Given the description of an element on the screen output the (x, y) to click on. 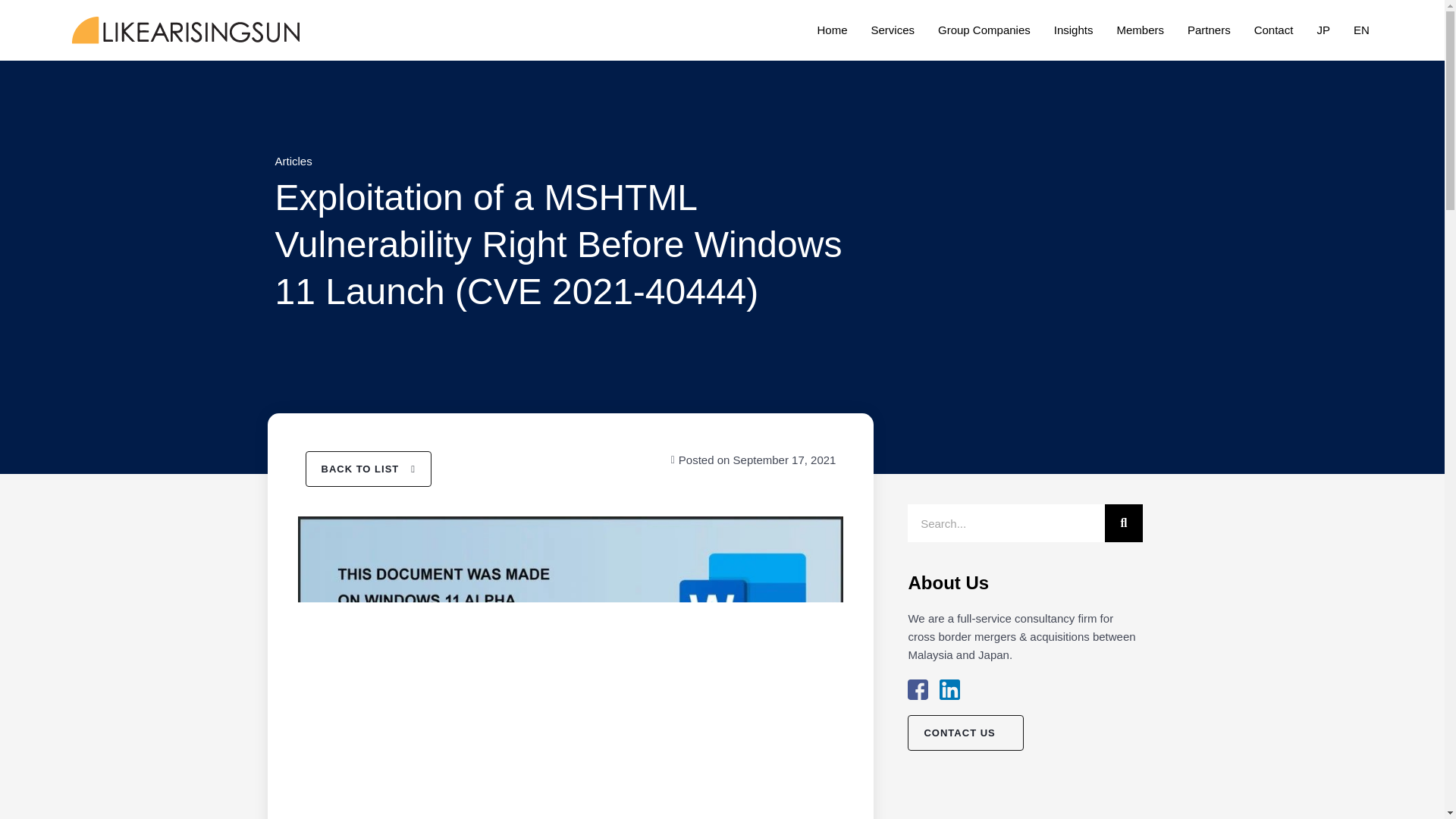
Services (892, 30)
Group Companies (983, 30)
Insights (1073, 30)
Members (1140, 30)
JP (1323, 30)
Contact (1273, 30)
Partners (1209, 30)
Home (831, 30)
EN (1362, 30)
